Given the description of an element on the screen output the (x, y) to click on. 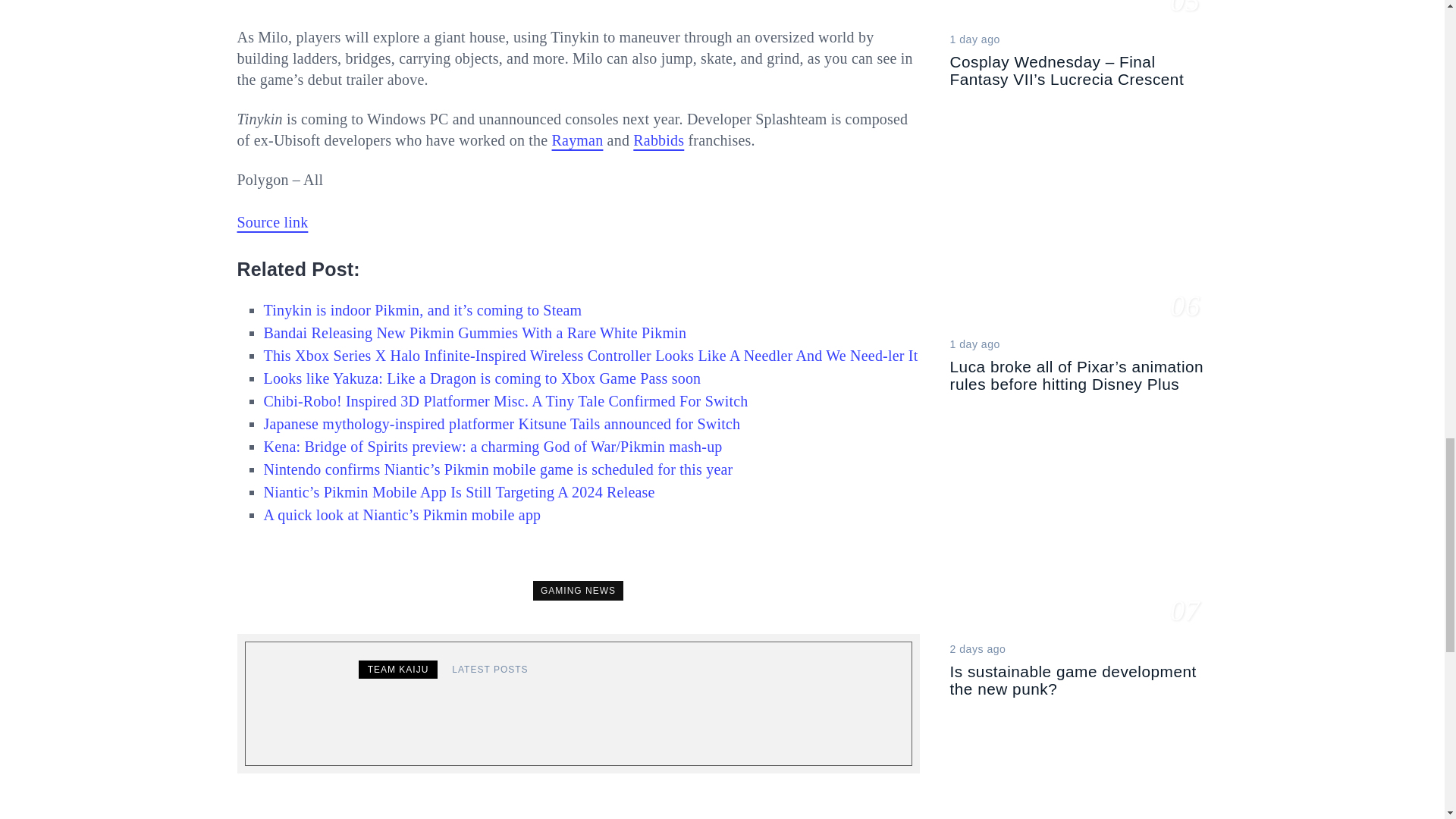
Bandai Releasing New Pikmin Gummies With a Rare White Pikmin (475, 332)
GAMING NEWS (577, 590)
Rabbids (658, 139)
Rayman (577, 139)
TEAM KAIJU (398, 669)
LATEST POSTS (489, 669)
